Given the description of an element on the screen output the (x, y) to click on. 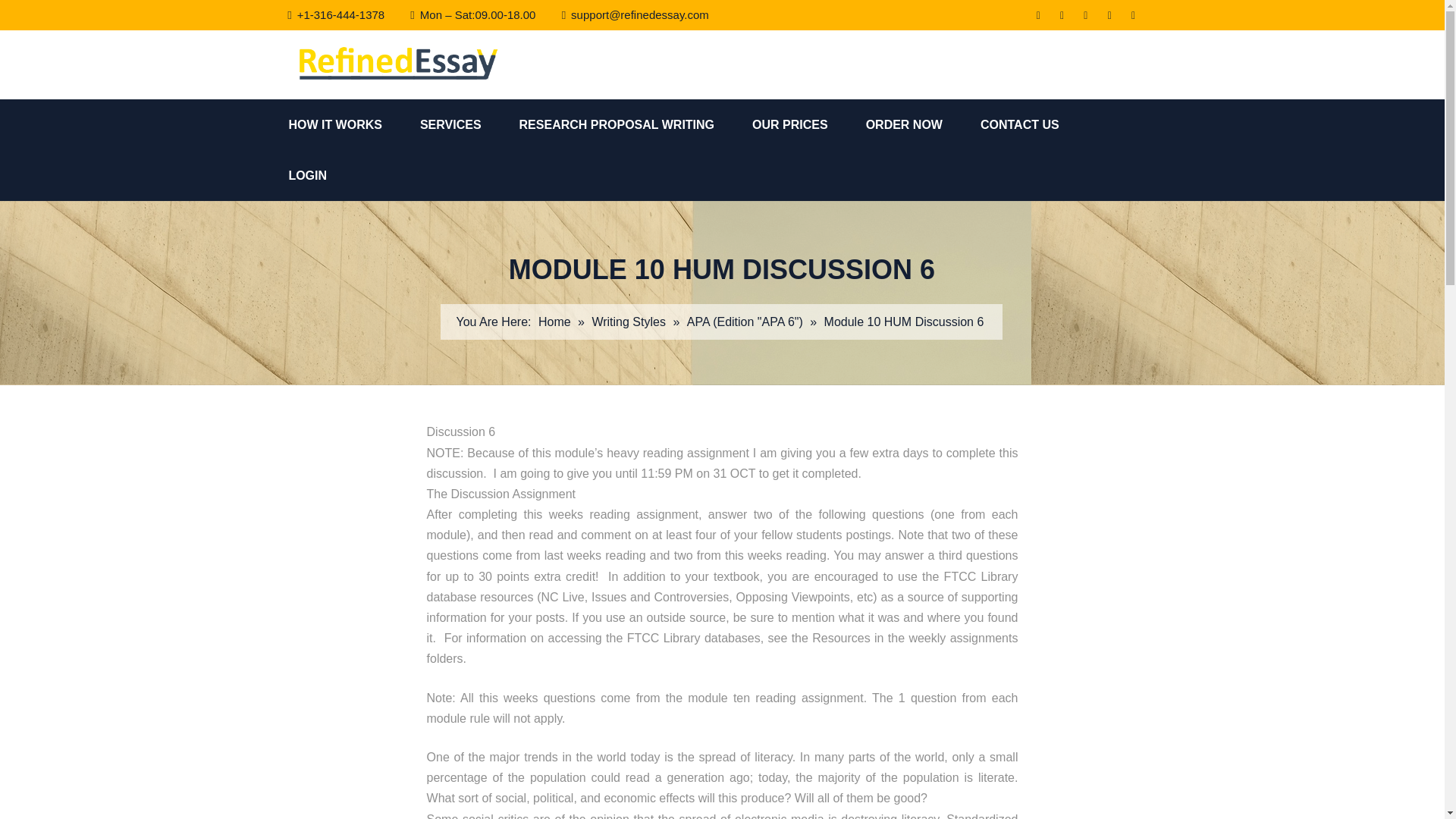
OUR PRICES (809, 124)
LOGIN (326, 174)
Writing Styles (628, 321)
RESEARCH PROPOSAL WRITING (635, 124)
CONTACT US (1038, 124)
ORDER NOW (922, 124)
SERVICES (469, 124)
HOW IT WORKS (354, 124)
Home (554, 321)
